Given the description of an element on the screen output the (x, y) to click on. 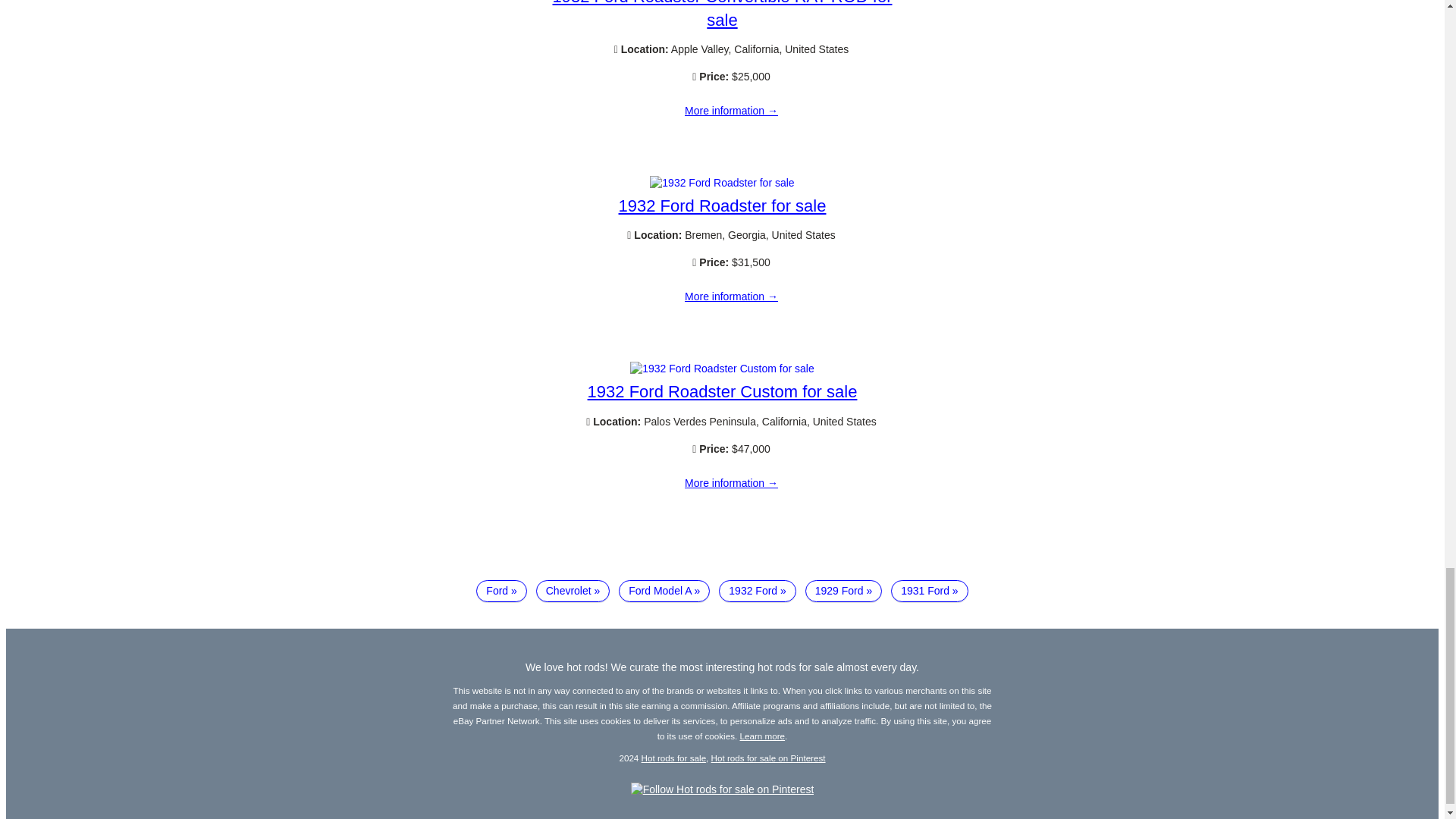
1929 Ford (843, 590)
Chevrolet (572, 590)
1932 Ford (757, 590)
1932 Ford Roadster Custom for sale (721, 368)
1932 Ford Roadster Convertible RAT ROD for sale (731, 111)
Hot rods for sale (674, 757)
Hot rods for sale on Pinterest (768, 757)
1932 Ford Roadster Custom for sale (722, 391)
Ford (500, 590)
Follow Hot rods for sale on Pinterest (721, 788)
